Given the description of an element on the screen output the (x, y) to click on. 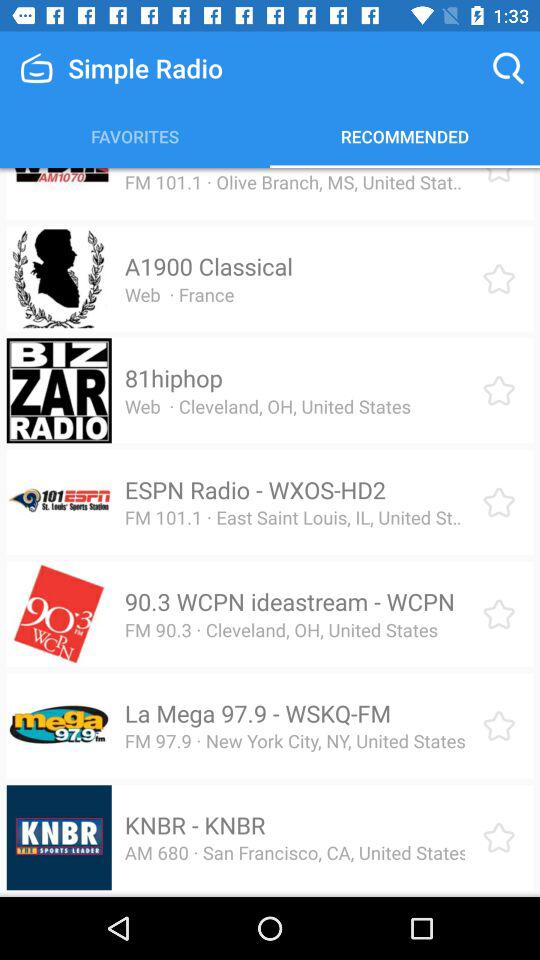
turn off item below the a1900 classical icon (179, 294)
